Given the description of an element on the screen output the (x, y) to click on. 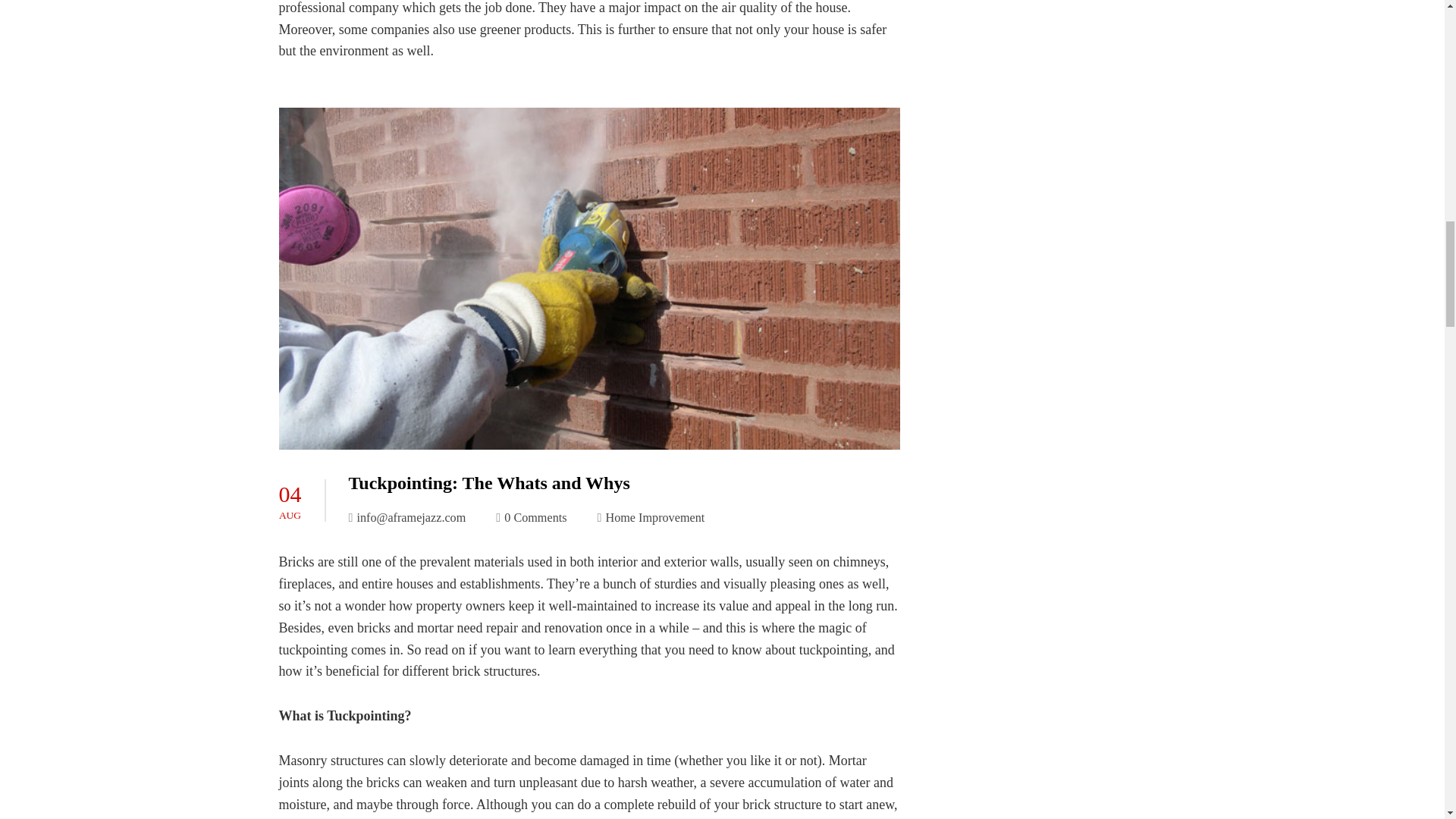
0 Comments (531, 517)
Home Improvement (654, 517)
Tuckpointing: The Whats and Whys (489, 483)
